Given the description of an element on the screen output the (x, y) to click on. 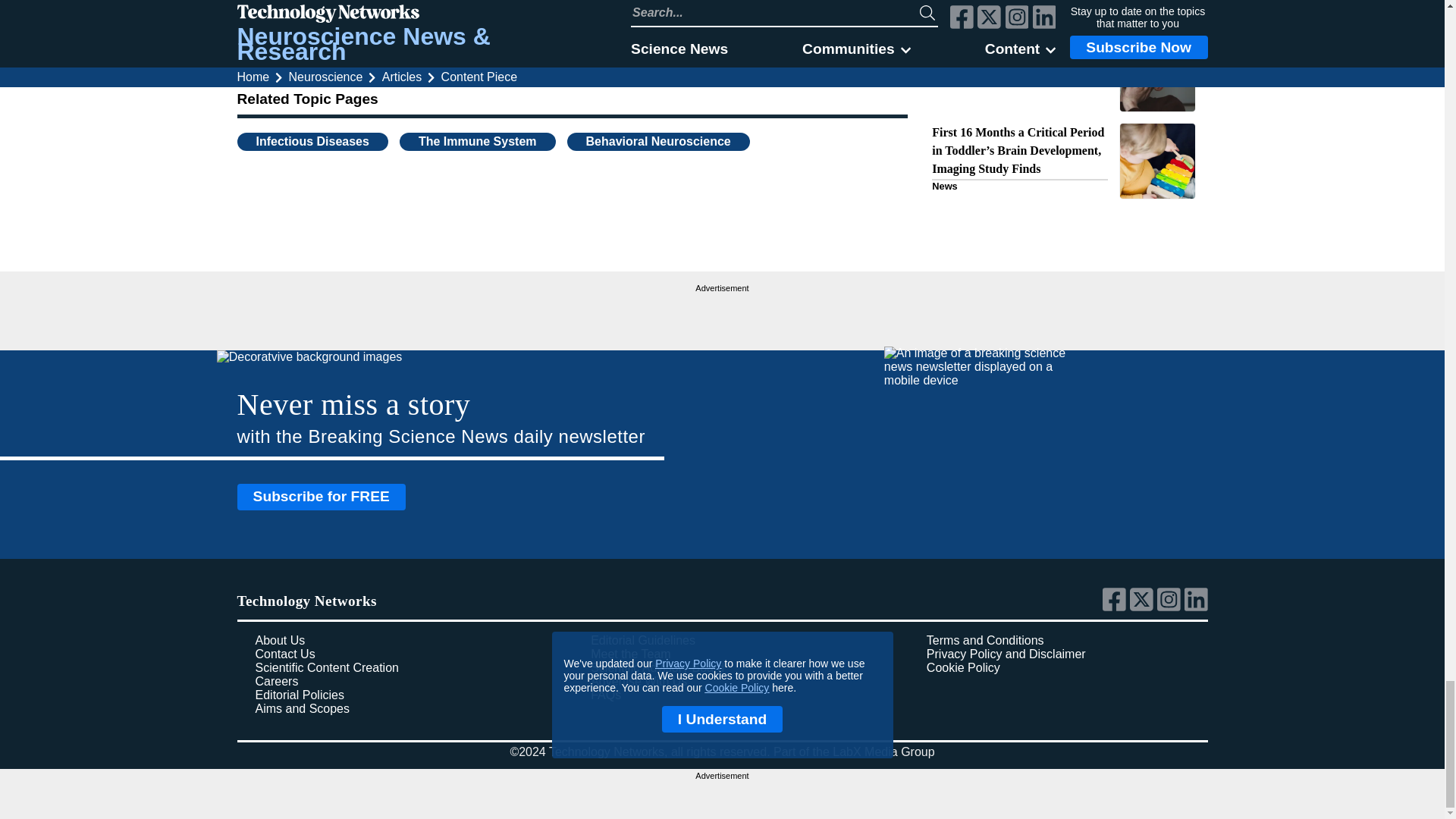
Link to Technology Networks' facebook page (1115, 607)
3rd party ad content (721, 315)
Link to Technology Networks' linkedin page (1196, 607)
Link to Technology Networks' instagram page (1171, 607)
Link to Technology Networks' twitter page (1143, 607)
